Given the description of an element on the screen output the (x, y) to click on. 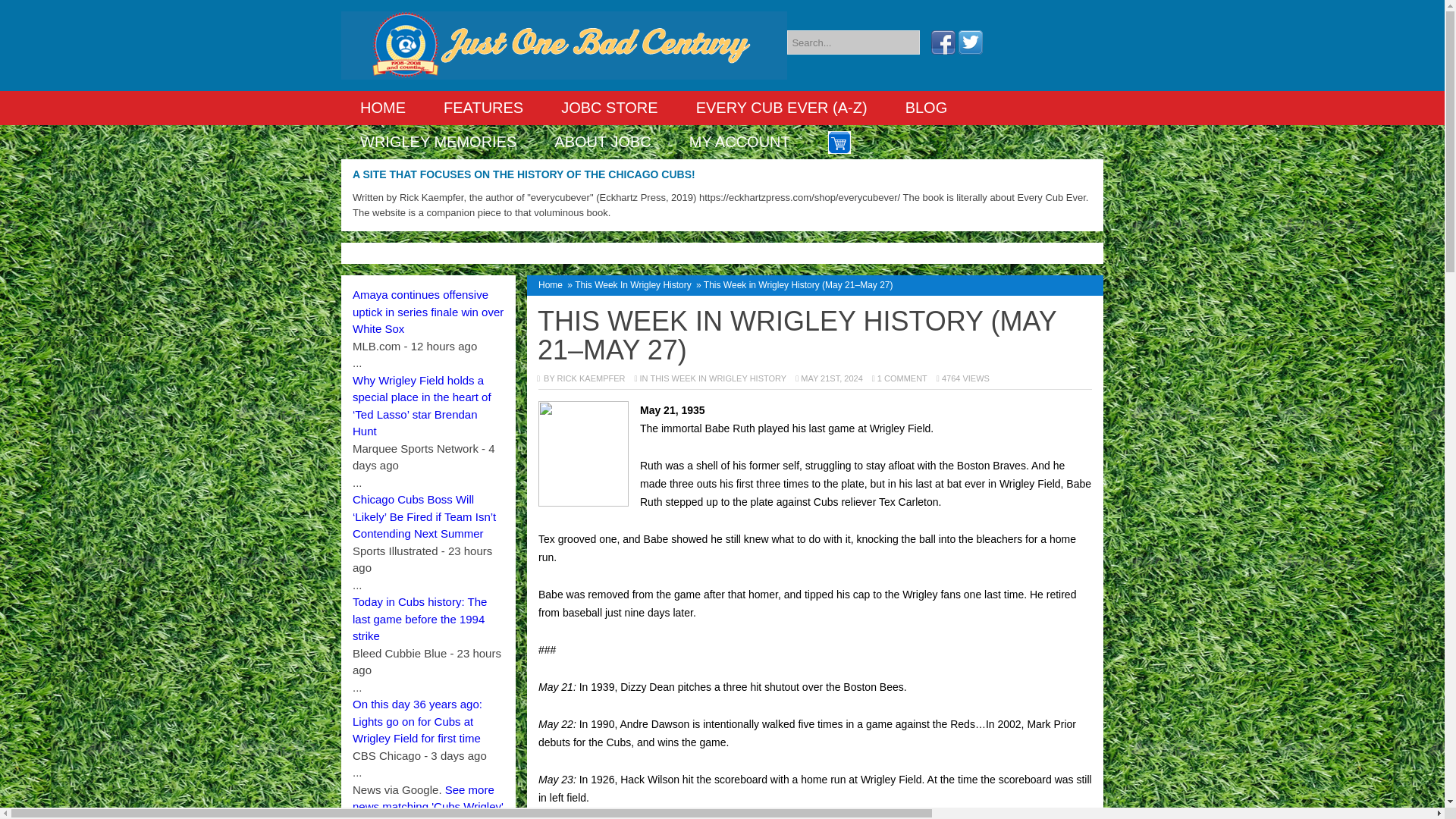
FEATURES (483, 107)
Search... (853, 42)
HOME (382, 107)
JOBC STORE (609, 107)
BLOG (926, 107)
